Given the description of an element on the screen output the (x, y) to click on. 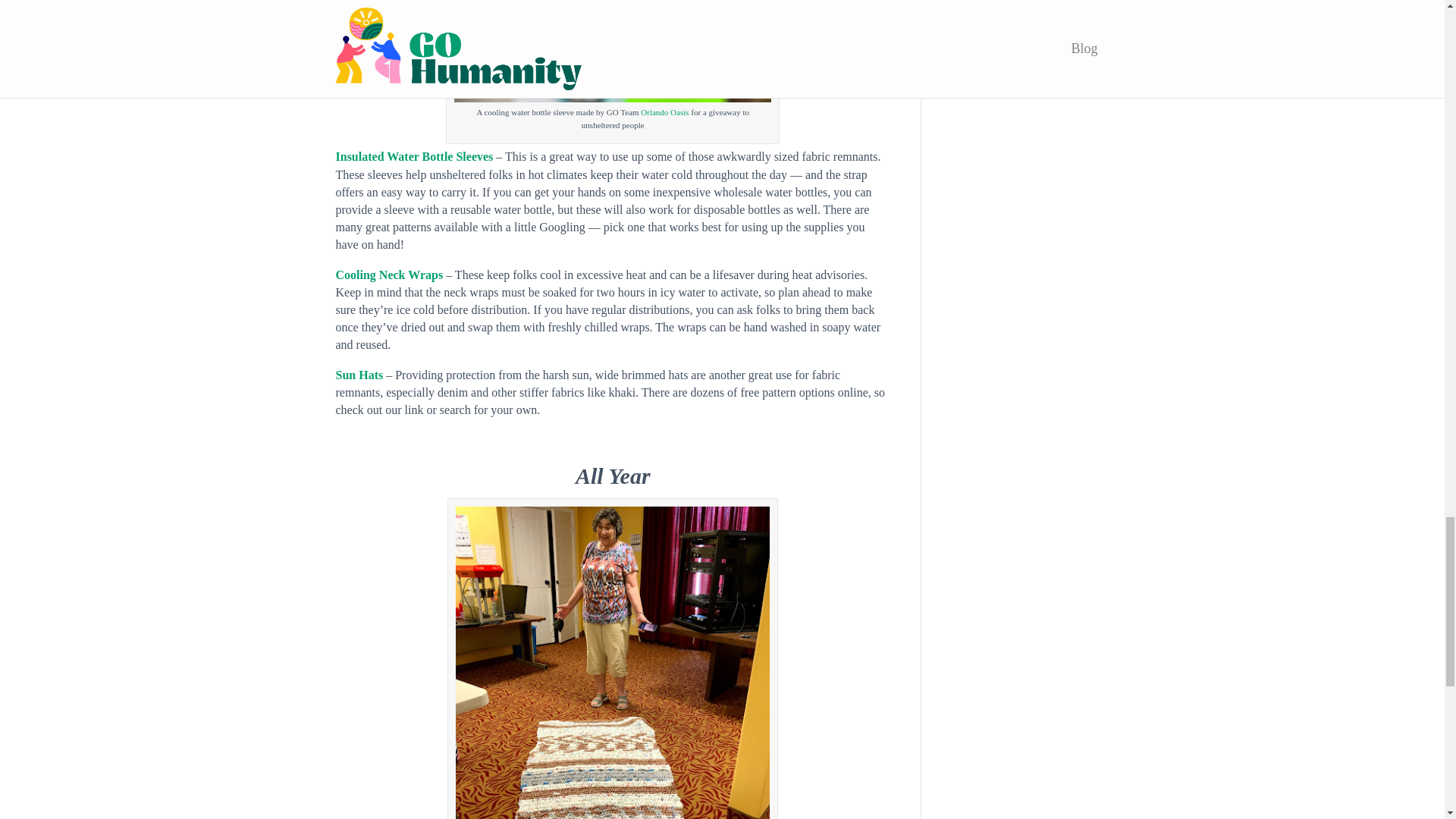
Sun Hats (358, 374)
Insulated Water Bottle Sleeves (413, 155)
Orlando Oasis (664, 112)
Cooling Neck Wraps (388, 274)
